Given the description of an element on the screen output the (x, y) to click on. 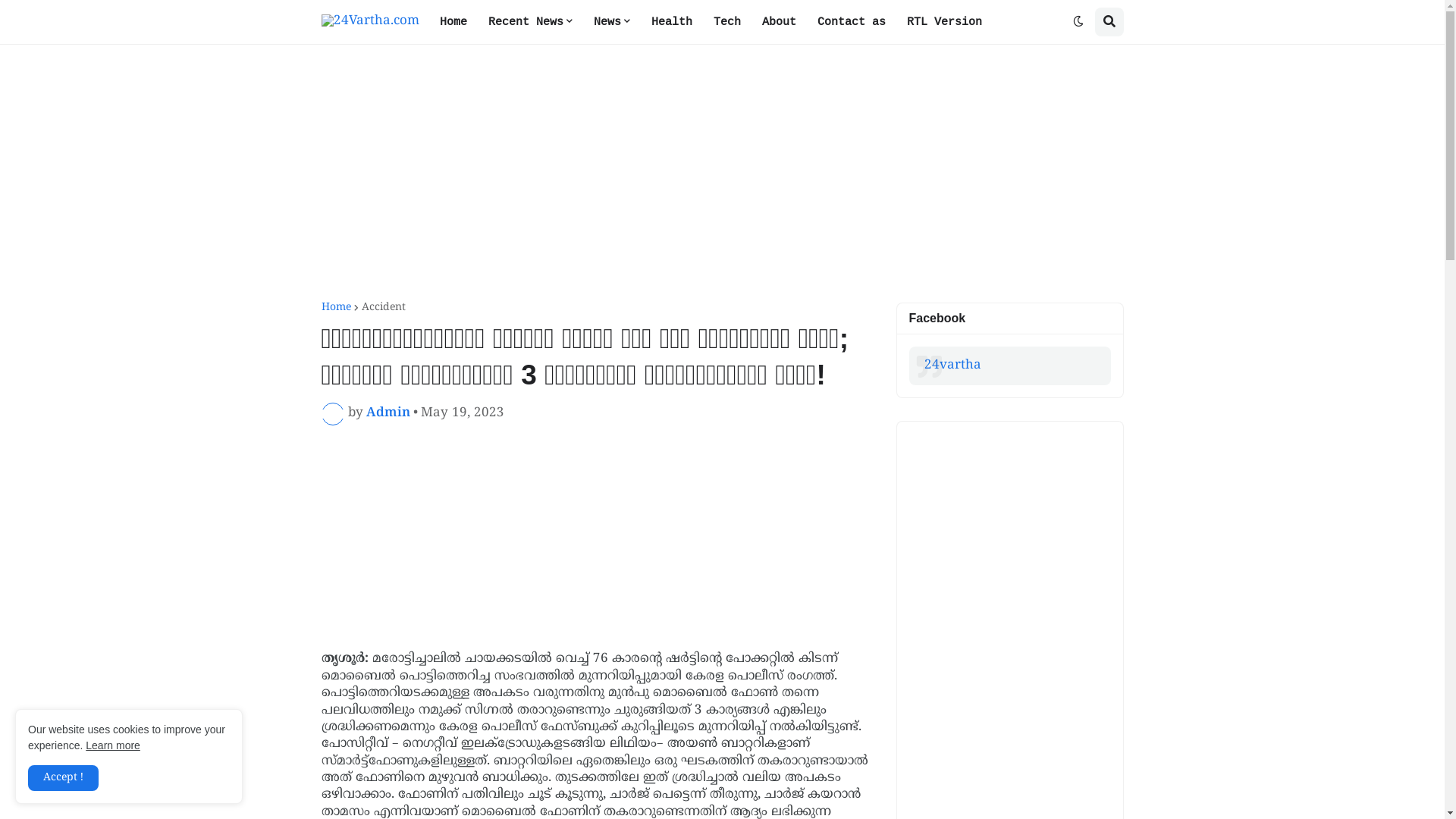
About Element type: text (778, 21)
24Vartha.com Element type: hover (370, 21)
Tech Element type: text (726, 21)
Accident Element type: text (382, 307)
Advertisement Element type: hover (722, 173)
Home Element type: text (336, 307)
Advertisement Element type: hover (597, 478)
Accept ! Element type: text (63, 777)
Contact as Element type: text (851, 21)
RTL Version Element type: text (944, 21)
24vartha Element type: text (951, 365)
Search Element type: hover (1109, 21)
Home Element type: text (453, 21)
Learn more Element type: text (112, 745)
News Element type: text (611, 21)
Recent News Element type: text (530, 21)
Health Element type: text (671, 21)
Advertisement Element type: hover (597, 583)
